Given the description of an element on the screen output the (x, y) to click on. 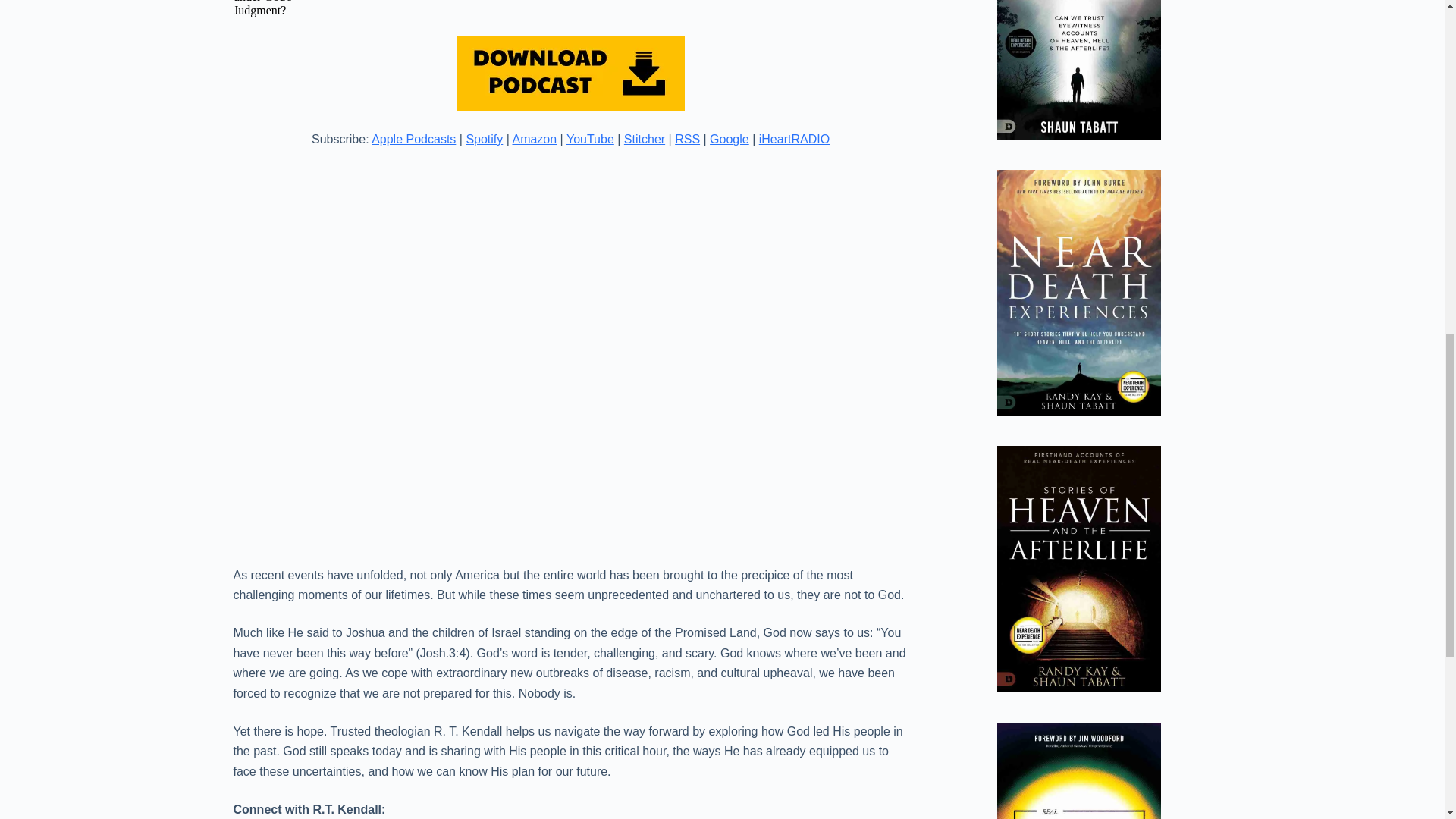
Google (729, 138)
Spotify (483, 138)
Stitcher (644, 138)
iHeartRADIO (793, 138)
Apple Podcasts (413, 138)
Amazon (534, 138)
RSS (687, 138)
YouTube (590, 138)
